Given the description of an element on the screen output the (x, y) to click on. 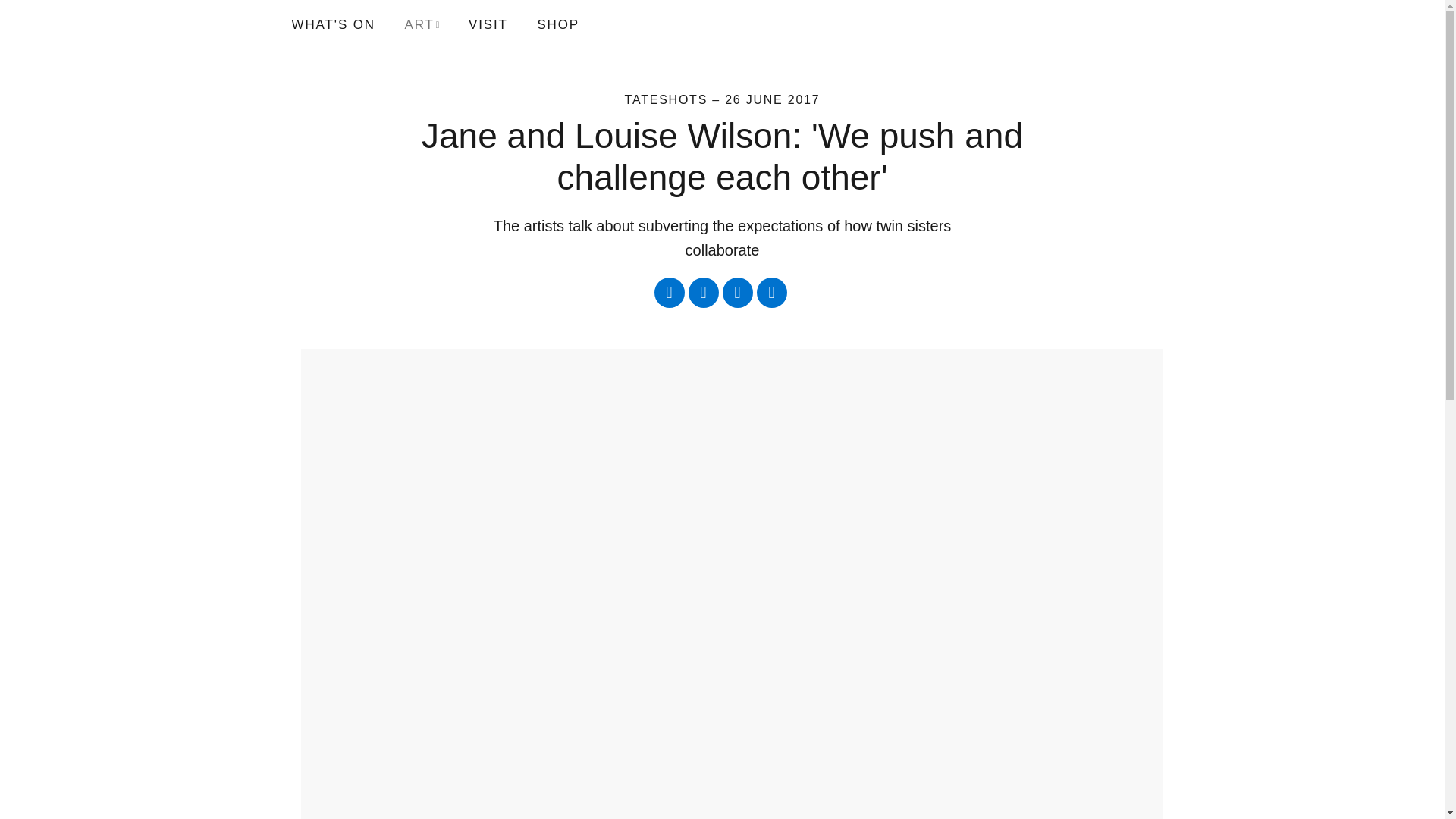
BECOME A MEMBER (882, 23)
Facebook (703, 292)
WHAT'S ON (339, 24)
Twitter (668, 292)
Return to the Tate home page (323, 23)
Facebook (703, 292)
Email (737, 292)
Pinterest (772, 292)
Twitter (668, 292)
VISIT (488, 24)
